Given the description of an element on the screen output the (x, y) to click on. 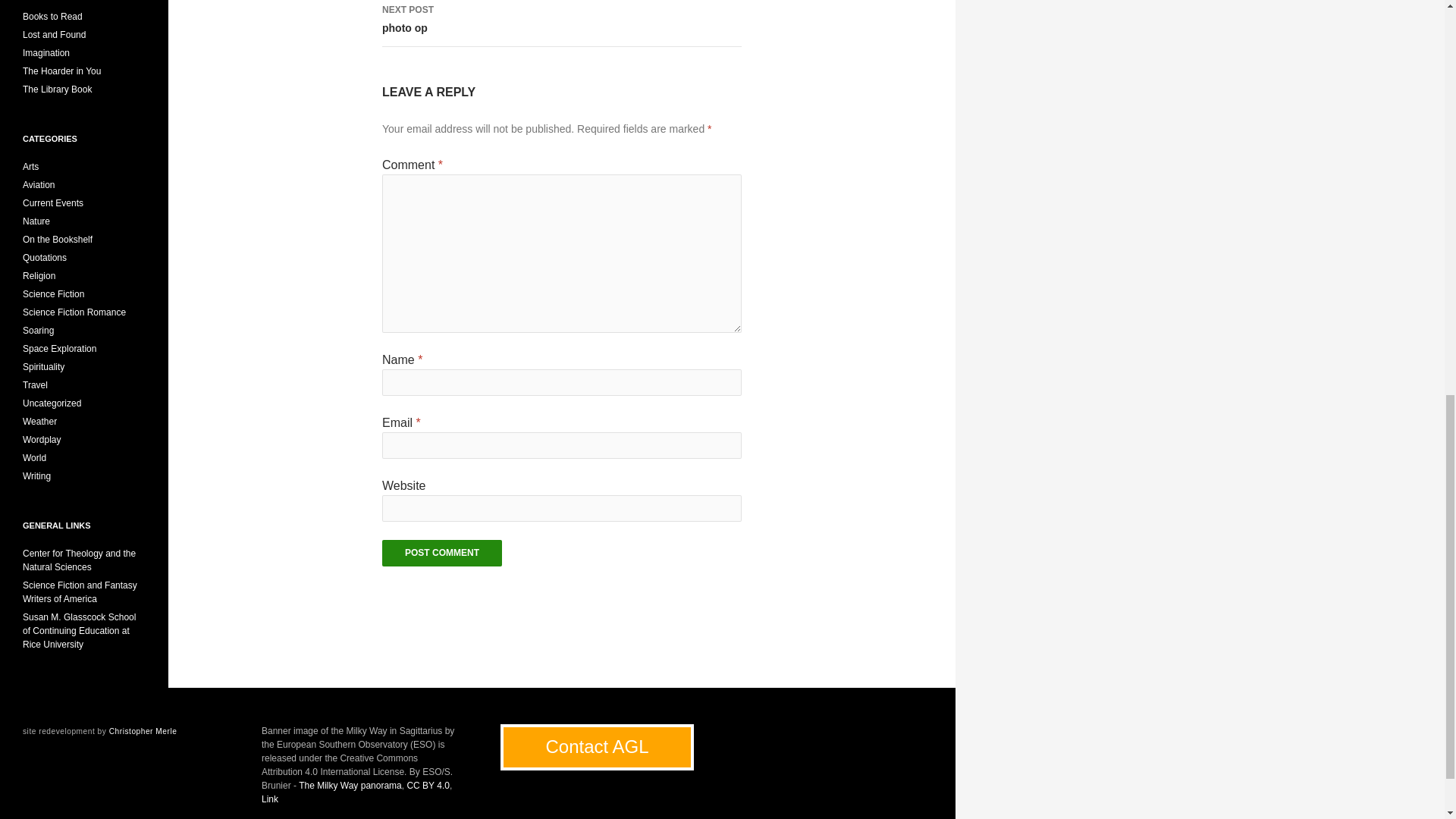
Aviation (39, 184)
Imagination (561, 23)
Current Events (46, 52)
Lost and Found (52, 203)
Post Comment (54, 34)
The Library Book (441, 552)
The Hoarder in You (57, 89)
Books to Read (61, 71)
Arts (52, 16)
